Given the description of an element on the screen output the (x, y) to click on. 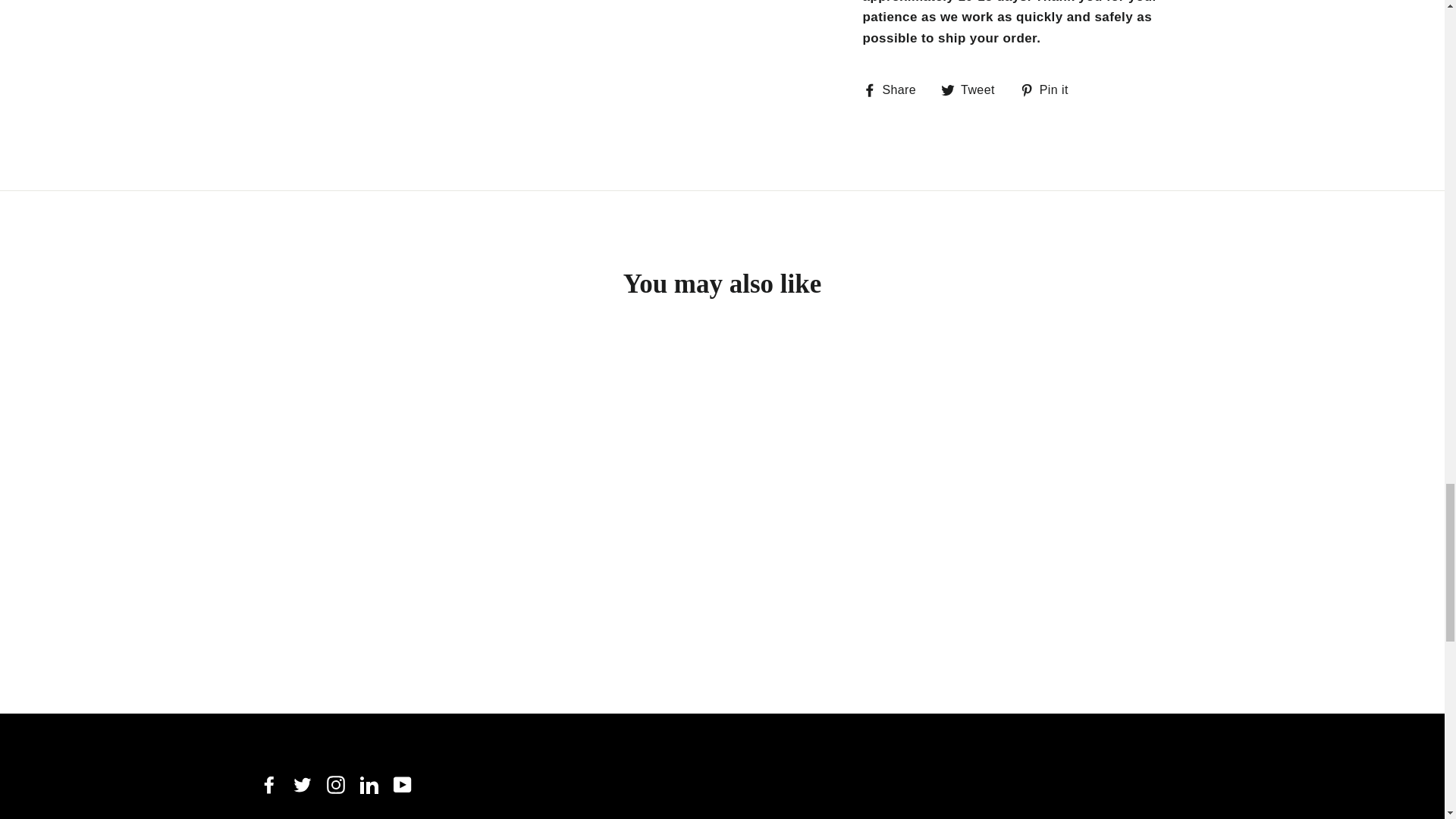
Pin on Pinterest (1050, 89)
Share on Facebook (895, 89)
Hamilton Perkins Collection on Instagram (335, 783)
Tweet on Twitter (973, 89)
Hamilton Perkins Collection on YouTube (402, 783)
Hamilton Perkins Collection on Twitter (302, 783)
Hamilton Perkins Collection on LinkedIn (368, 783)
Hamilton Perkins Collection on Facebook (268, 783)
